Given the description of an element on the screen output the (x, y) to click on. 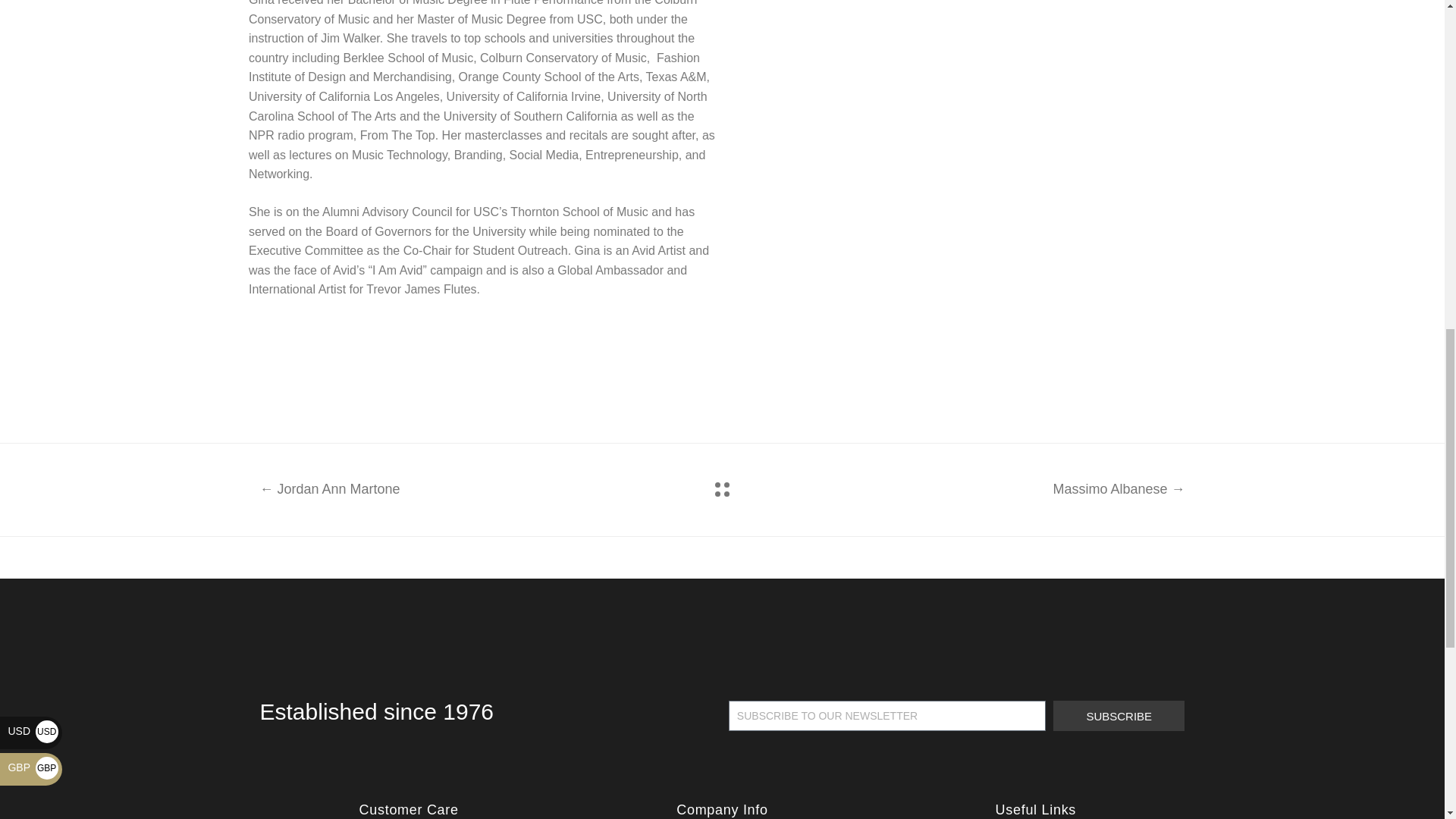
Show All (721, 489)
